Given the description of an element on the screen output the (x, y) to click on. 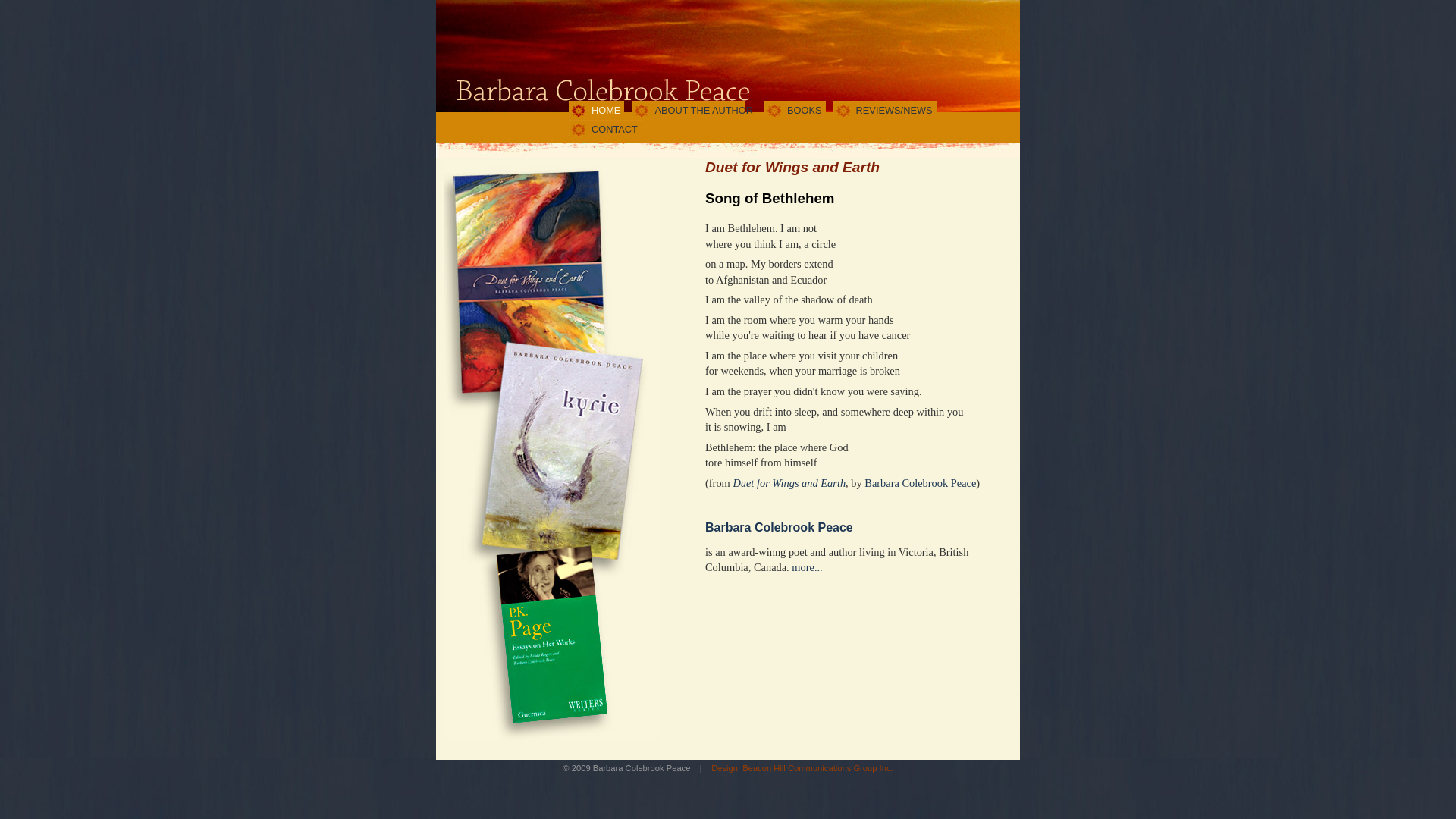
more... Element type: text (806, 567)
HOME Element type: text (596, 109)
Barbara Colebrook Peace Element type: text (779, 526)
CONTACT Element type: text (604, 128)
Duet for Wings and Earth Element type: text (788, 482)
BOOKS Element type: text (794, 109)
REVIEWS/NEWS Element type: text (884, 109)
Design: Beacon Hill Communications Group Inc. Element type: text (801, 767)
Barbara Colebrook Peace Element type: text (919, 482)
ABOUT THE AUTHOR Element type: text (693, 109)
